Given the description of an element on the screen output the (x, y) to click on. 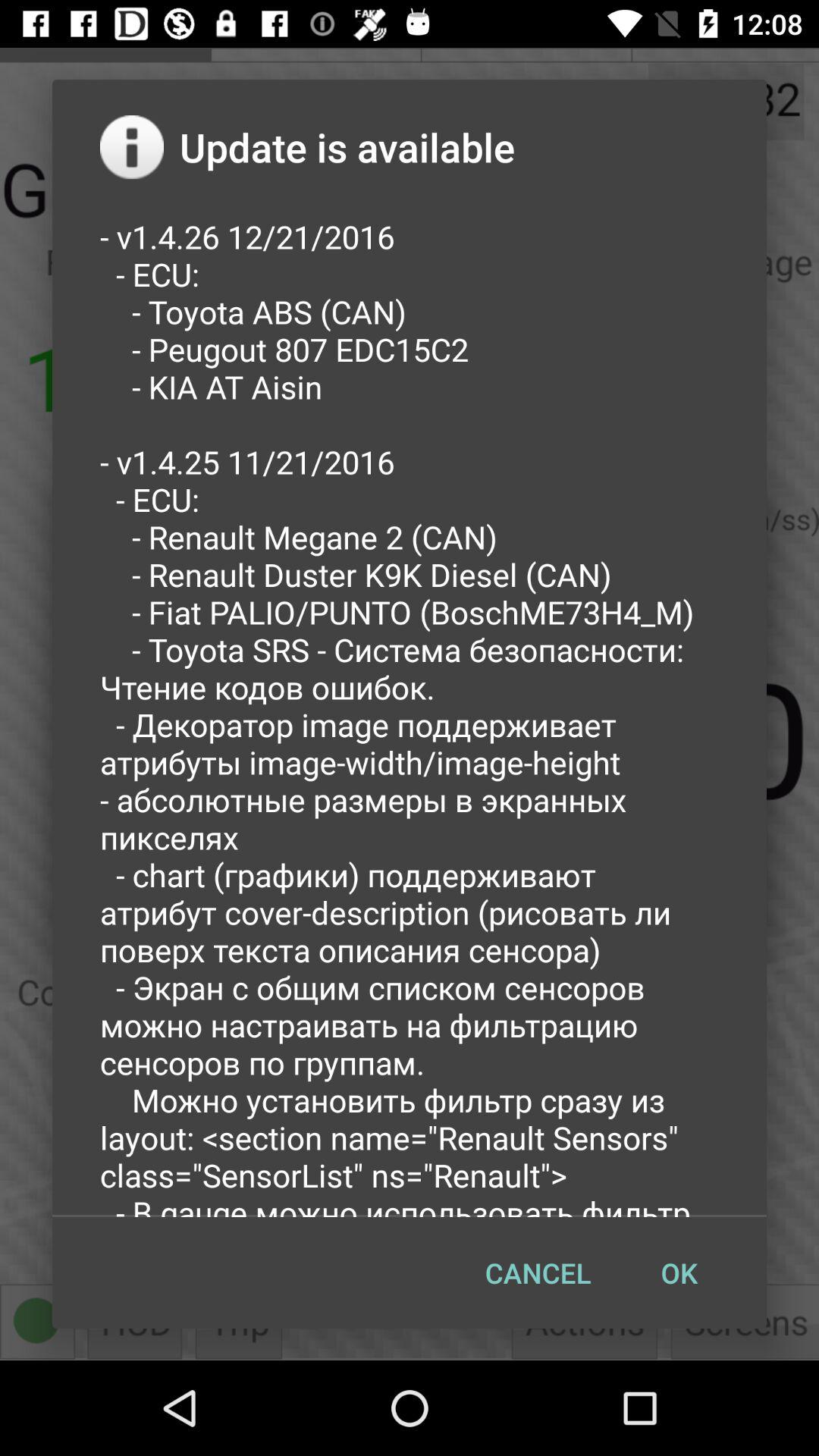
select the item to the left of the ok item (538, 1272)
